Given the description of an element on the screen output the (x, y) to click on. 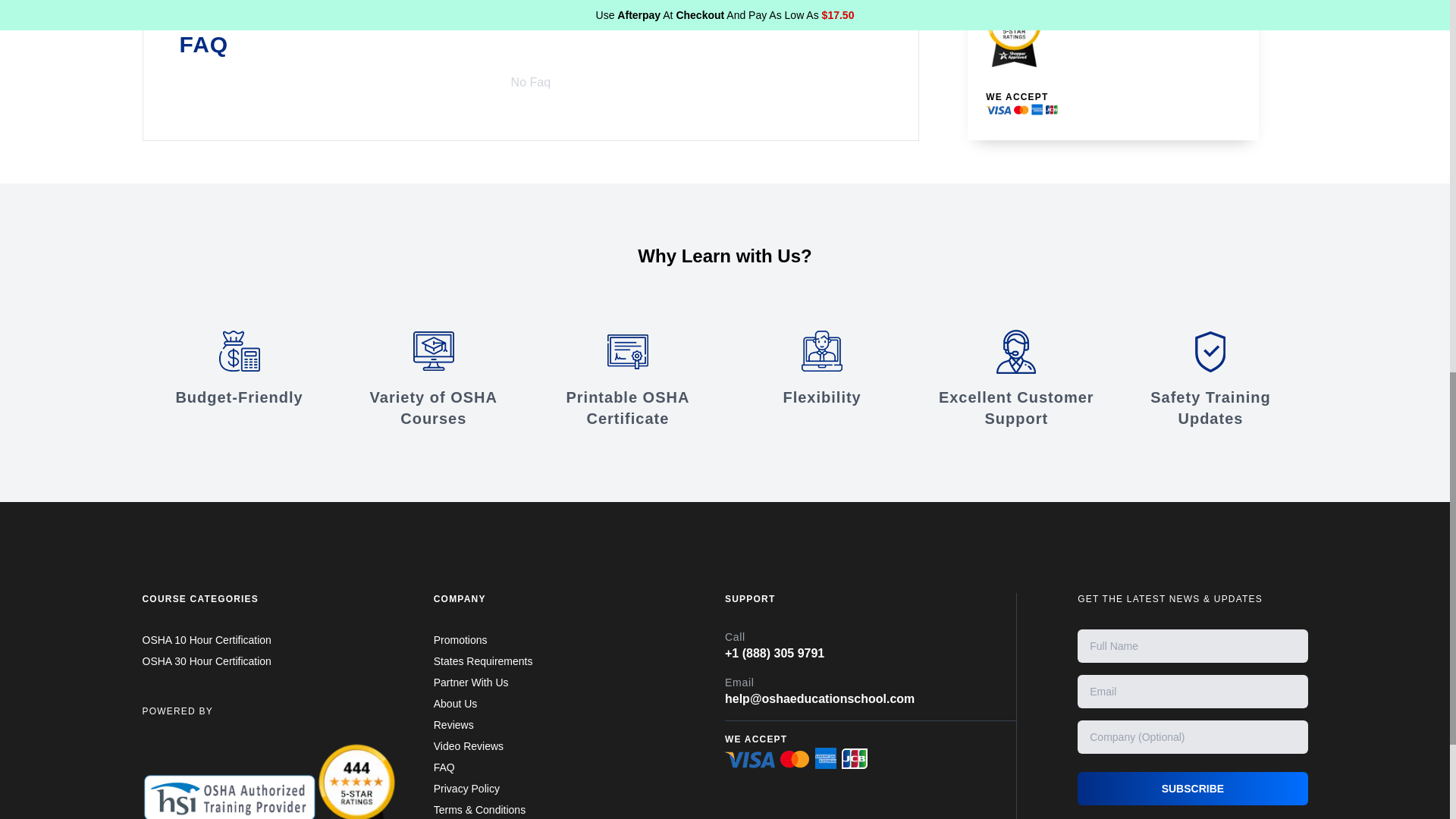
Variety of OSHA Courses (433, 379)
Excellent Customer Support (1015, 379)
Budget-Friendly (239, 368)
Printable OSHA Certificate (627, 379)
Flexibility (821, 368)
Safety Training Updates (1209, 379)
